Given the description of an element on the screen output the (x, y) to click on. 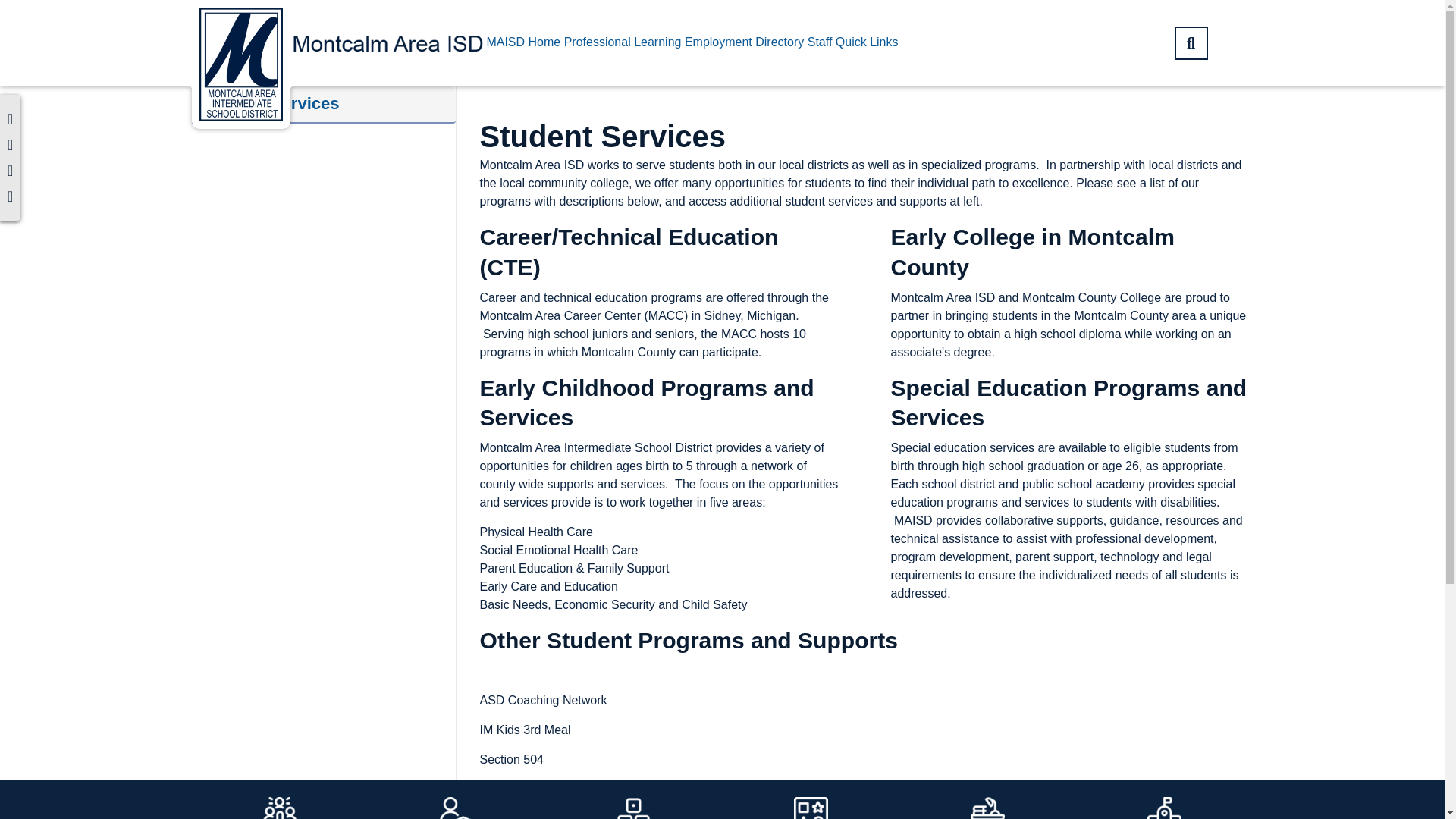
Search (1189, 42)
Staff (820, 42)
Quick Links (866, 42)
MAISD Home (523, 42)
Professional Learning (622, 42)
Directory (779, 42)
Employment (718, 42)
